Given the description of an element on the screen output the (x, y) to click on. 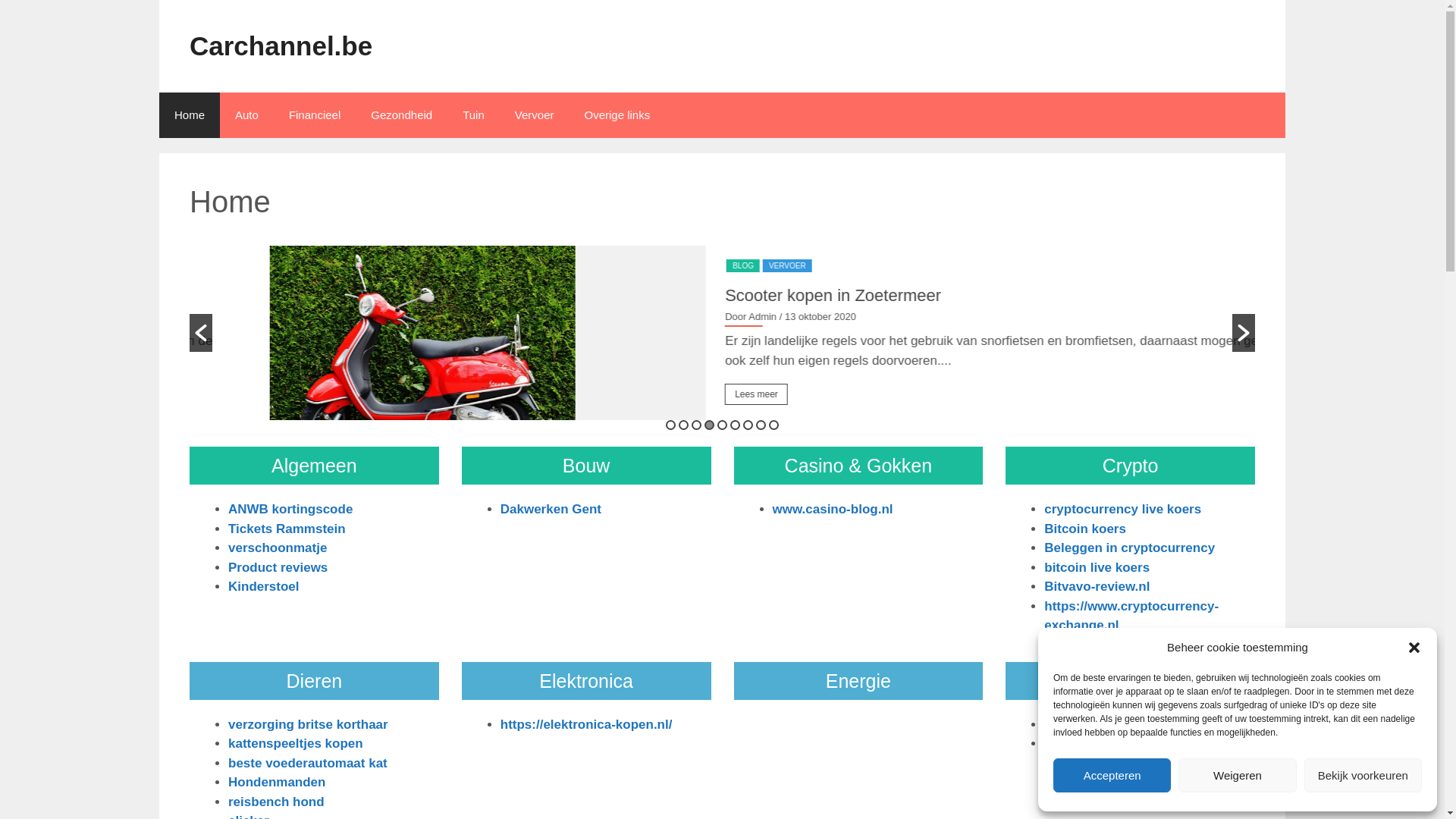
verzorging britse korthaar Element type: text (308, 724)
8 Element type: text (760, 424)
6 Element type: text (735, 424)
Product reviews Element type: text (277, 566)
9 Element type: text (773, 424)
3 Element type: text (696, 424)
Vervoer Element type: text (534, 115)
Weigeren Element type: text (1236, 775)
Eten blogs Element type: text (1077, 743)
ANWB kortingscode Element type: text (290, 509)
Carchannel.be Element type: text (280, 45)
Bilstein: kwaliteit en betrouwbaarheid Element type: text (781, 294)
BLOG Element type: text (698, 265)
Tuin Element type: text (473, 115)
www.casino-blog.nl Element type: text (831, 509)
Accepteren Element type: text (1111, 775)
Dakwerken Gent Element type: text (550, 509)
Lees meer Element type: text (675, 393)
https://elektronica-kopen.nl/ Element type: text (586, 724)
Tickets Rammstein Element type: text (286, 528)
Hondenmanden Element type: text (276, 782)
Kinderstoel Element type: text (263, 586)
beste voederautomaat kat Element type: text (307, 762)
Bekijk voorkeuren Element type: text (1362, 775)
4 Element type: text (709, 424)
Bitcoin koers Element type: text (1085, 528)
https://www.cryptocurrency-exchange.nl Element type: text (1131, 616)
kattenspeeltjes kopen Element type: text (295, 743)
5 Element type: text (722, 424)
Overige links Element type: text (616, 115)
2 Element type: text (683, 424)
1 Element type: text (670, 424)
Beleggen in cryptocurrency Element type: text (1129, 547)
eipocheren.nl Element type: text (1086, 724)
Bitvavo-review.nl Element type: text (1096, 586)
AUTO Element type: text (662, 265)
bitcoin live koers Element type: text (1096, 566)
reisbench hond Element type: text (276, 801)
verschoonmatje Element type: text (277, 547)
Home Element type: text (189, 115)
Auto Element type: text (246, 115)
Financieel Element type: text (314, 115)
Gezondheid Element type: text (401, 115)
cryptocurrency live koers Element type: text (1122, 509)
7 Element type: text (748, 424)
